Given the description of an element on the screen output the (x, y) to click on. 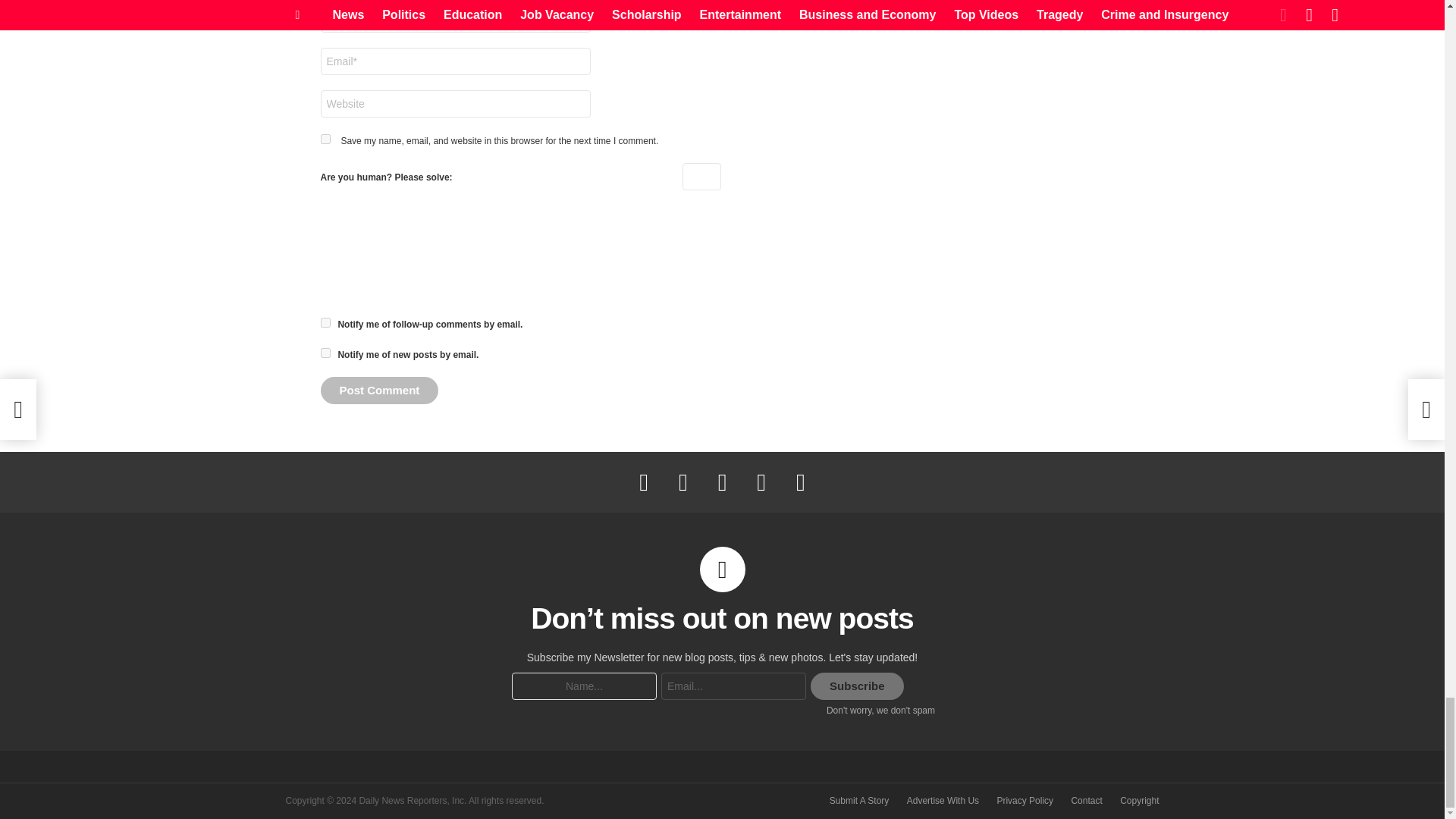
Post Comment (379, 390)
Subscribe (857, 686)
subscribe (325, 322)
yes (325, 139)
subscribe (325, 352)
